Given the description of an element on the screen output the (x, y) to click on. 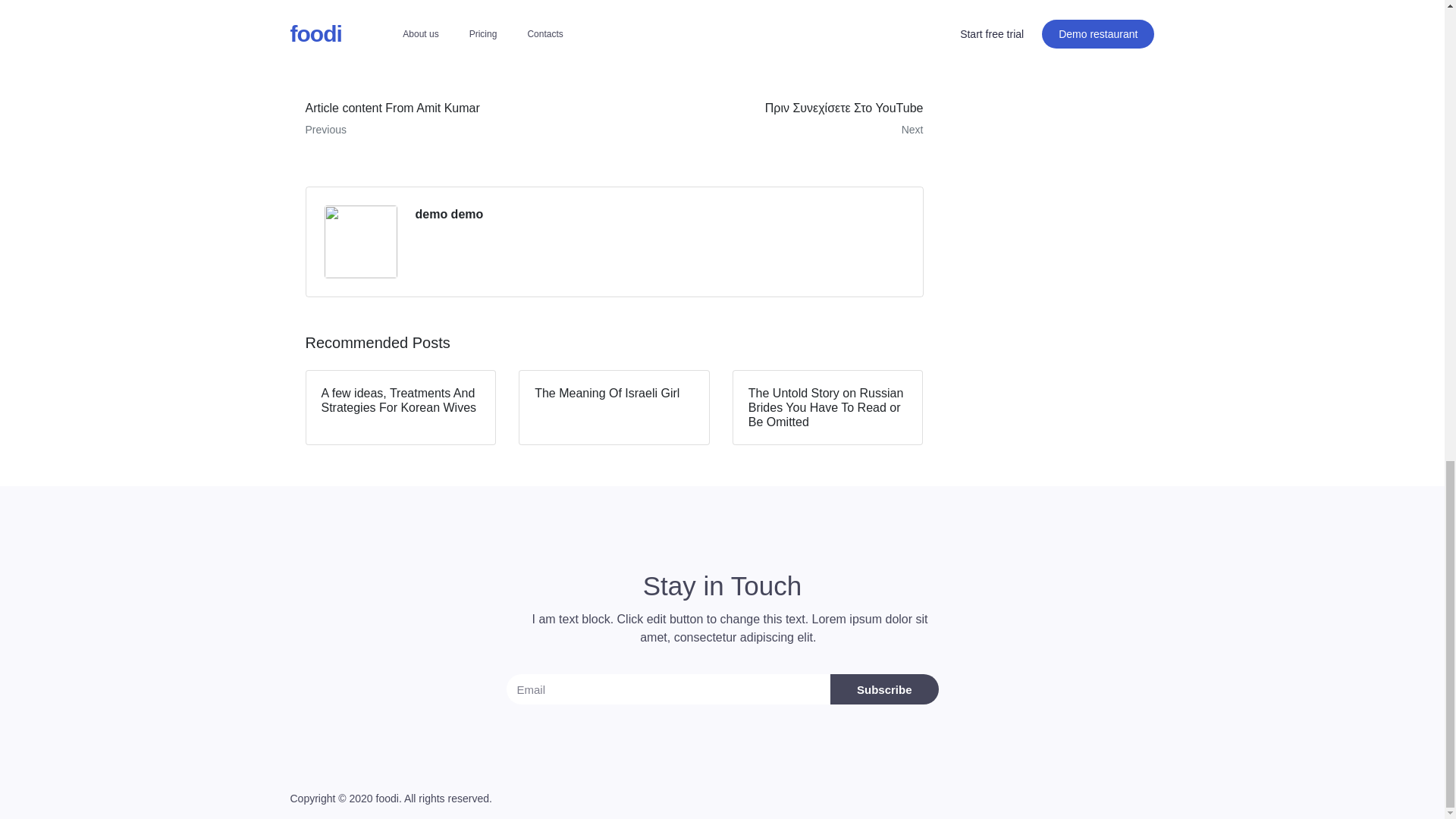
Facebook (350, 30)
Article content From Amit Kumar (454, 118)
The Meaning Of Israeli Girl (614, 407)
LinkedIn (526, 30)
Twitter (440, 30)
A few ideas, Treatments And Strategies For Korean Wives (400, 407)
demo demo (448, 214)
Subscribe (454, 118)
